Given the description of an element on the screen output the (x, y) to click on. 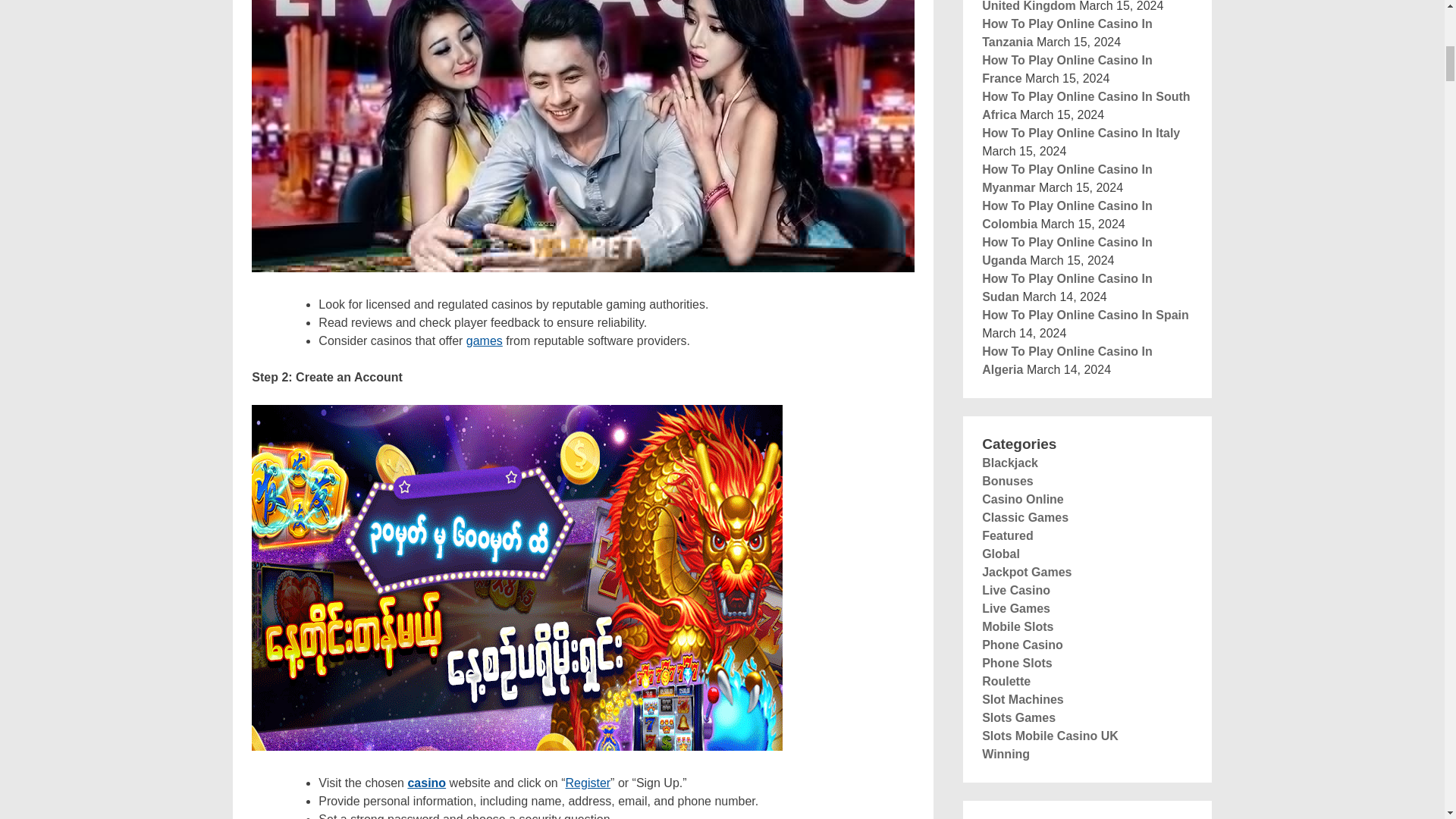
games (483, 340)
casino (426, 782)
Register (588, 782)
Casino (426, 782)
games (483, 340)
Register (588, 782)
